Given the description of an element on the screen output the (x, y) to click on. 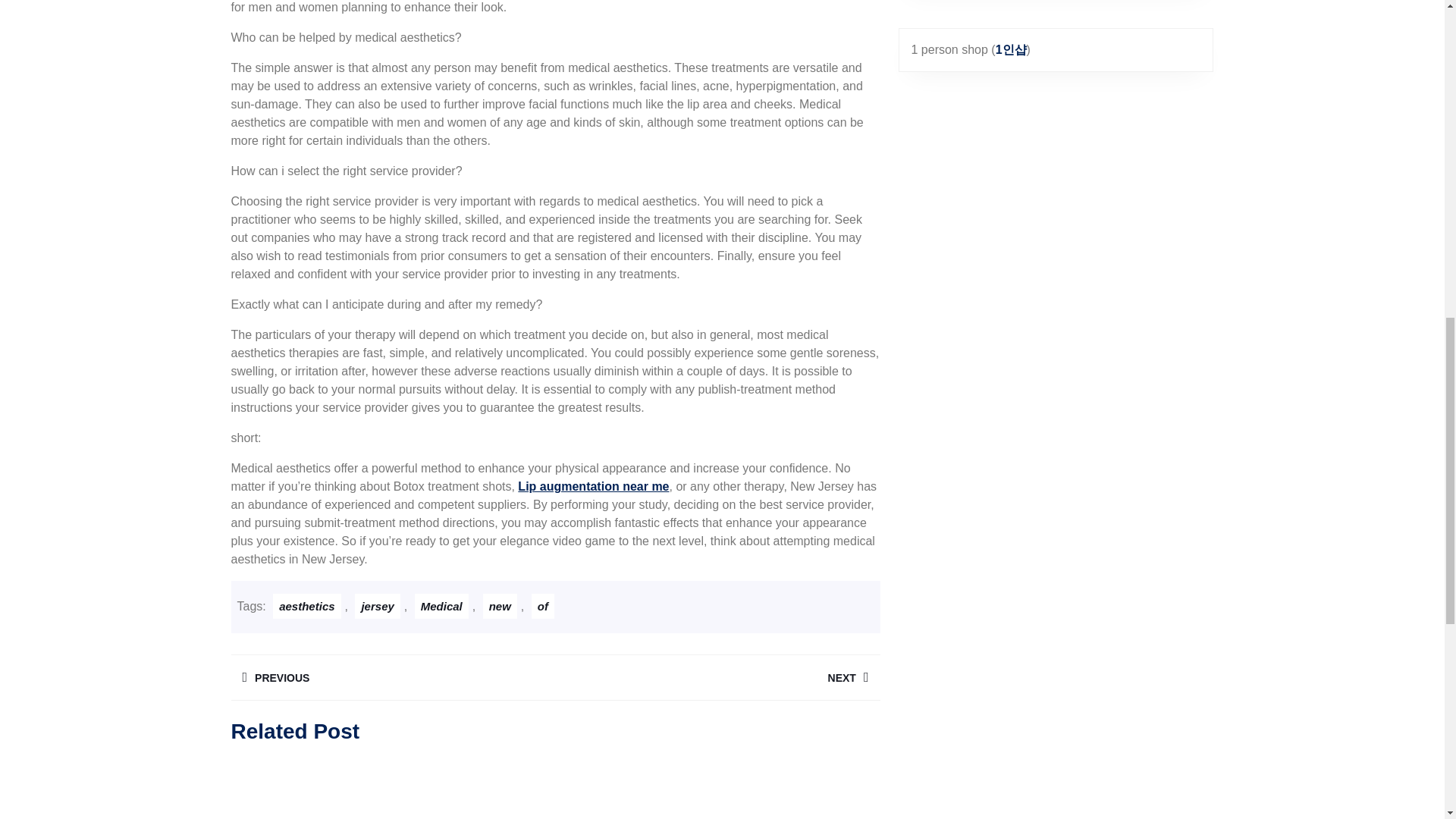
Medical (441, 606)
aesthetics (306, 606)
of (542, 606)
Lip augmentation near me (593, 486)
new (499, 606)
jersey (376, 606)
